Given the description of an element on the screen output the (x, y) to click on. 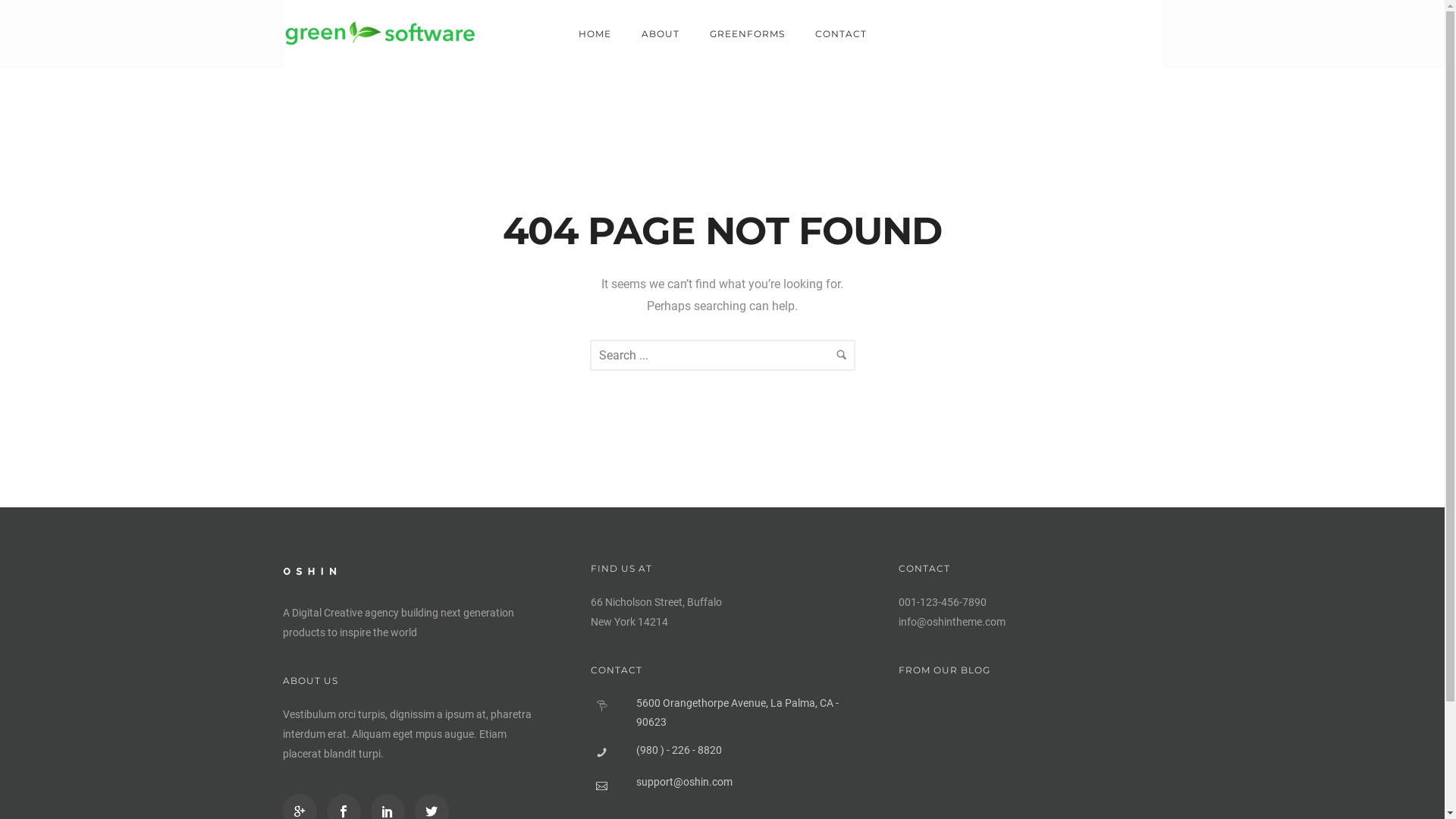
ABOUT Element type: text (660, 33)
GREENFORMS Element type: text (747, 33)
HOME Element type: text (593, 33)
CONTACT Element type: text (840, 33)
